Given the description of an element on the screen output the (x, y) to click on. 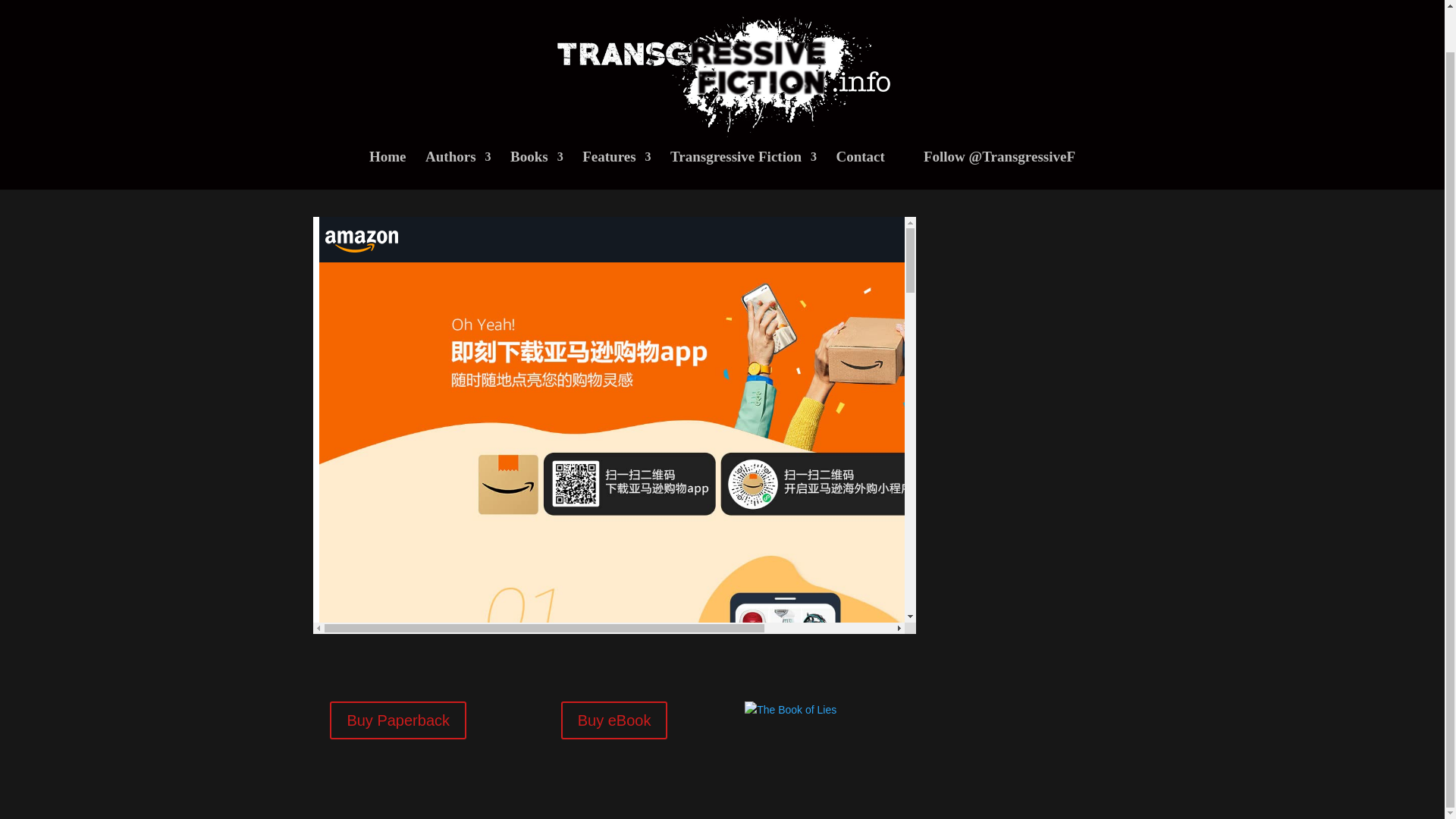
Books (537, 125)
Contact (859, 125)
Features (616, 125)
Home (387, 125)
Authors (458, 125)
Buy eBook (614, 720)
Transgressive Fiction (742, 125)
Buy Paperback (397, 720)
